Given the description of an element on the screen output the (x, y) to click on. 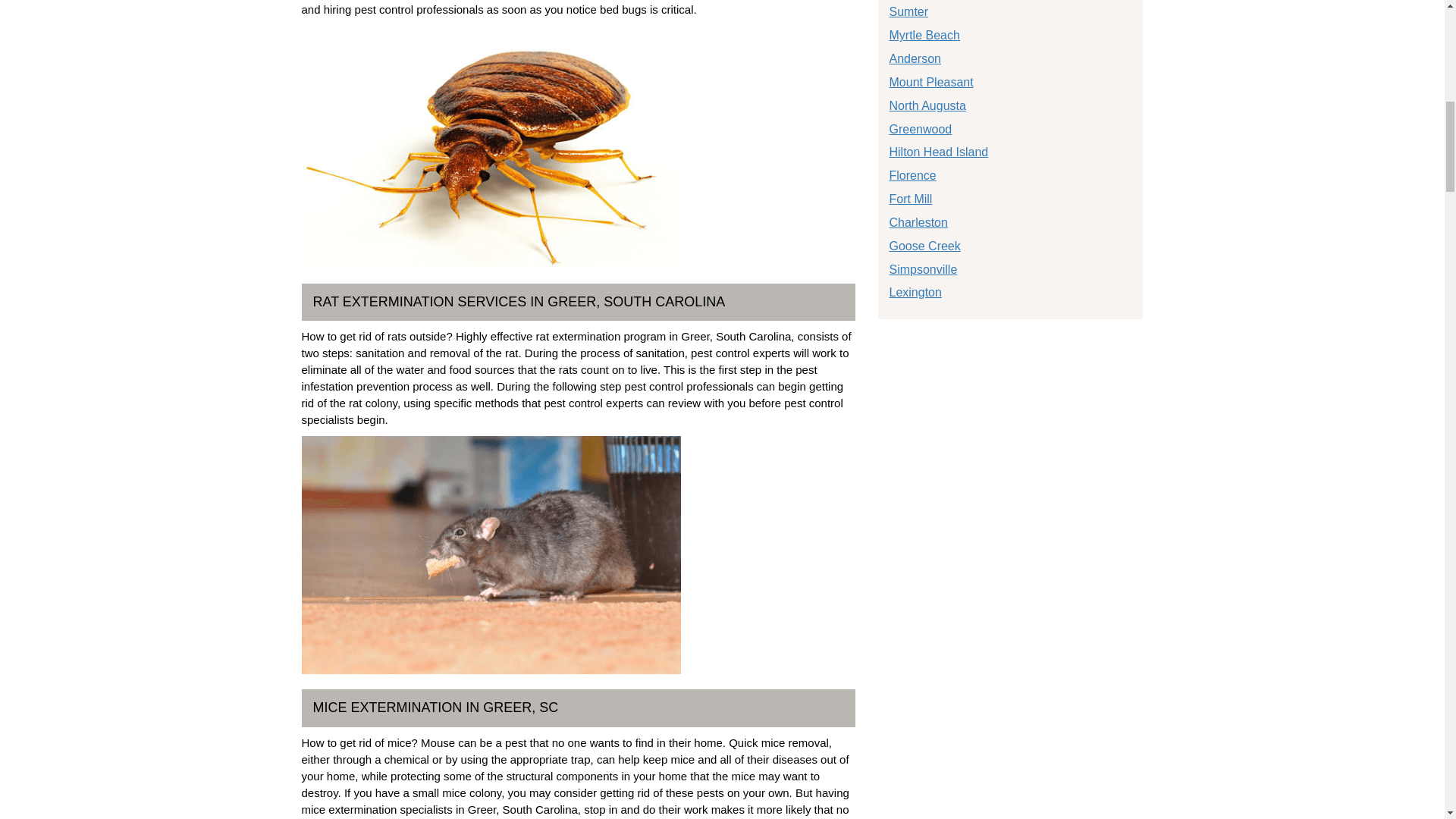
Myrtle Beach (923, 34)
Charleston (917, 222)
Lexington (914, 291)
Florence (912, 174)
Greenwood (920, 128)
Simpsonville (922, 269)
Mount Pleasant (930, 82)
Hilton Head Island (938, 151)
Goose Creek (923, 245)
North Augusta (926, 105)
Anderson (914, 58)
Fort Mill (909, 198)
Sumter (908, 11)
